Given the description of an element on the screen output the (x, y) to click on. 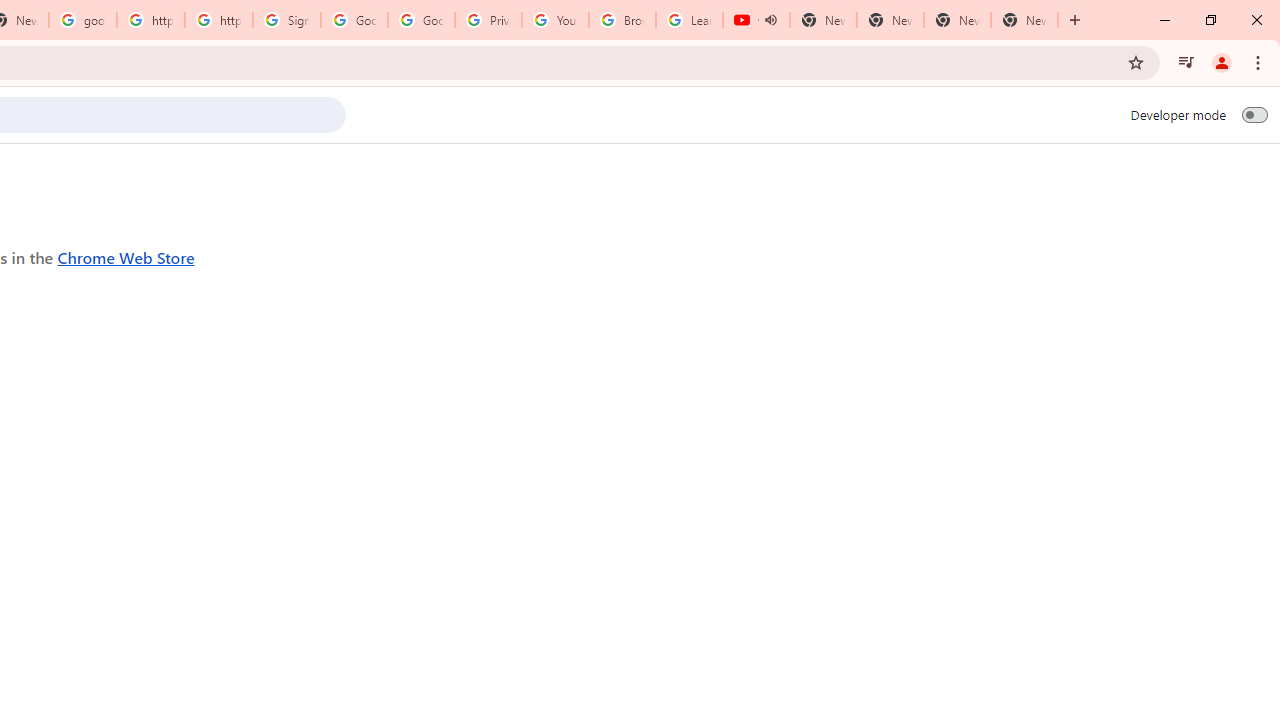
Chrome Web Store (125, 256)
